Given the description of an element on the screen output the (x, y) to click on. 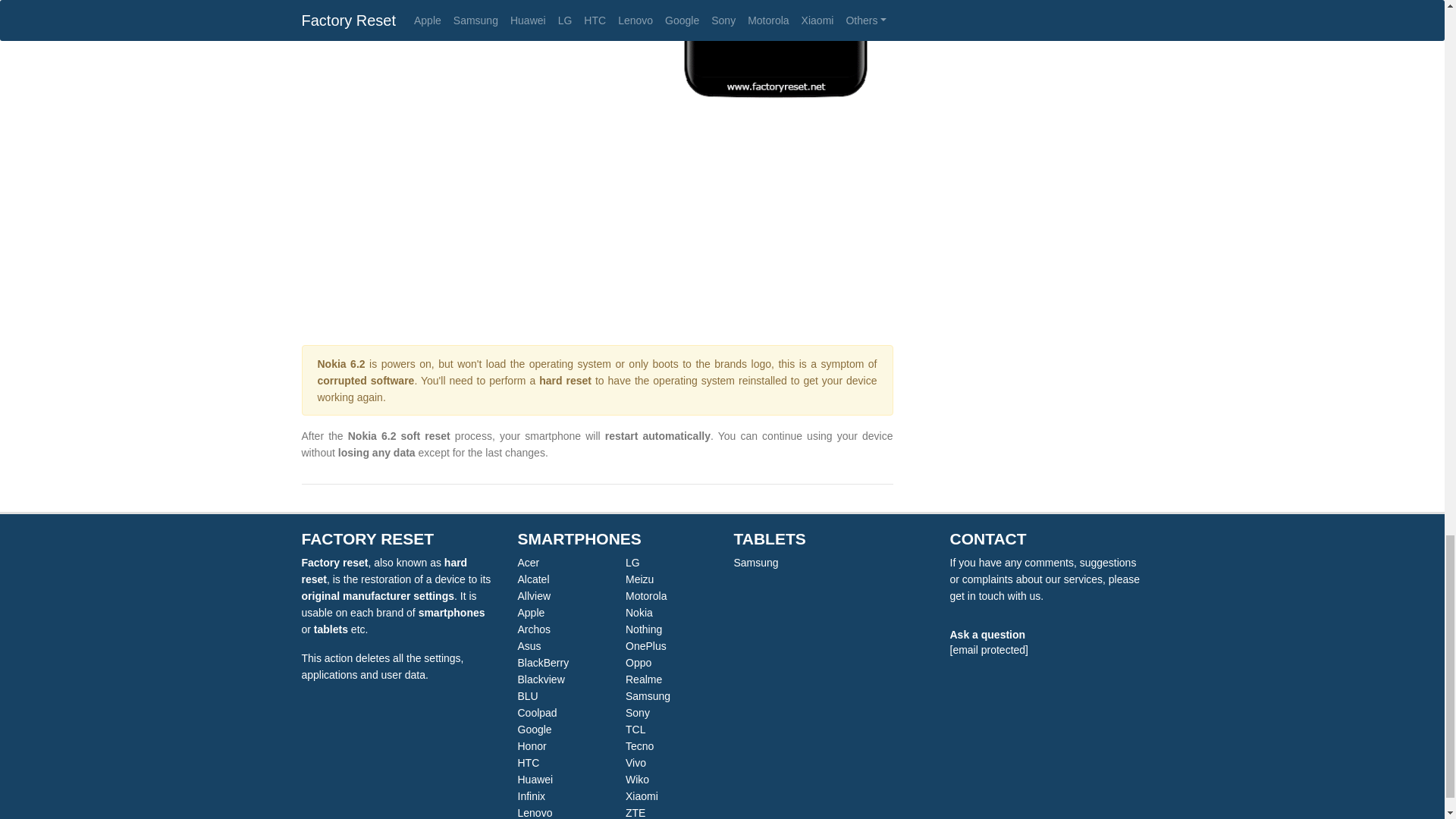
Alcatel (532, 579)
Acer (527, 562)
Apple (530, 612)
Allview (533, 595)
